Given the description of an element on the screen output the (x, y) to click on. 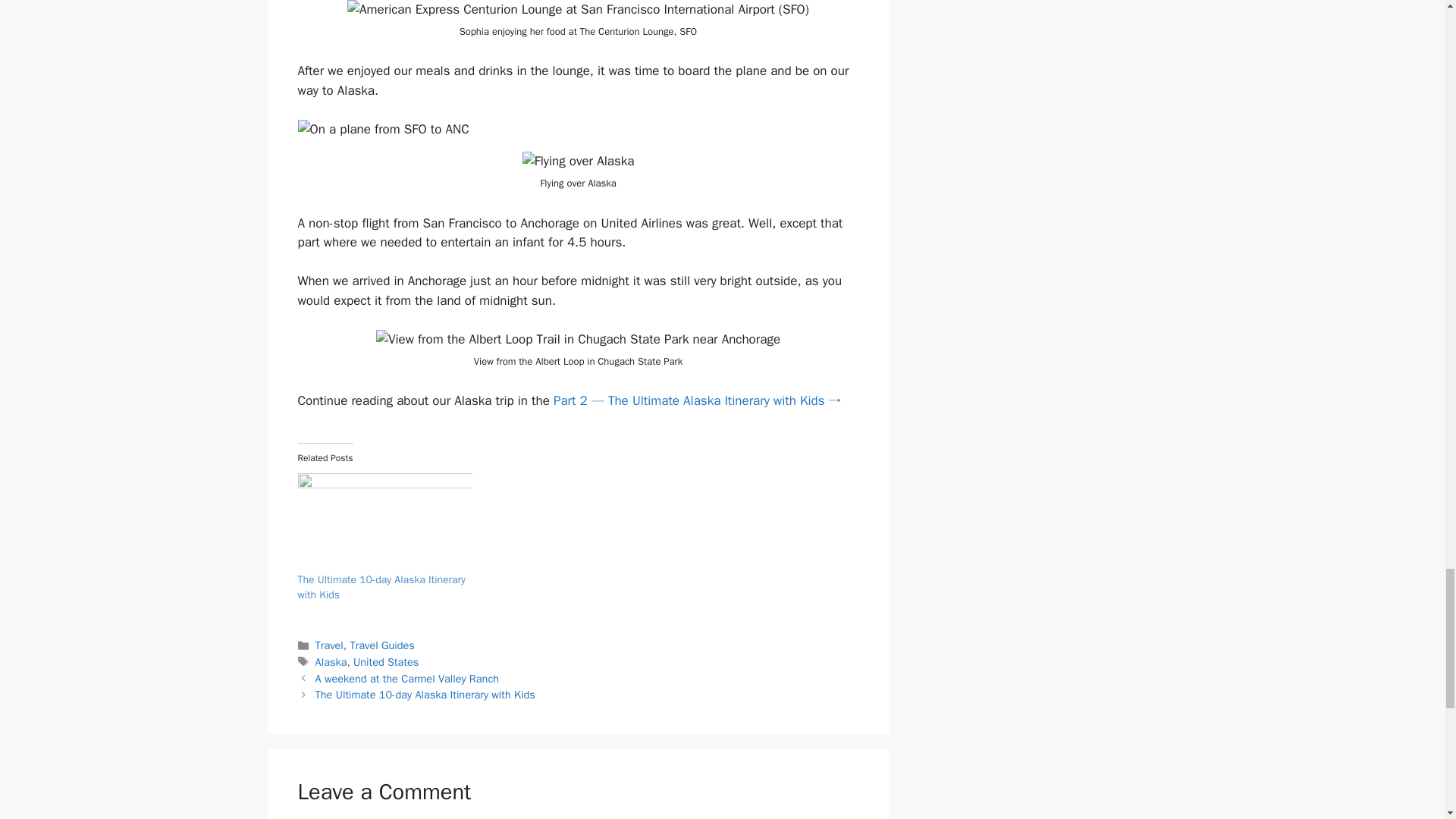
Travel Guides (381, 644)
Travel (329, 644)
Alaska (331, 662)
The Ultimate 10-day Alaska Itinerary with Kids (425, 694)
The Ultimate 10-day Alaska Itinerary with Kids (380, 587)
United States (386, 662)
A weekend at the Carmel Valley Ranch (407, 678)
